Given the description of an element on the screen output the (x, y) to click on. 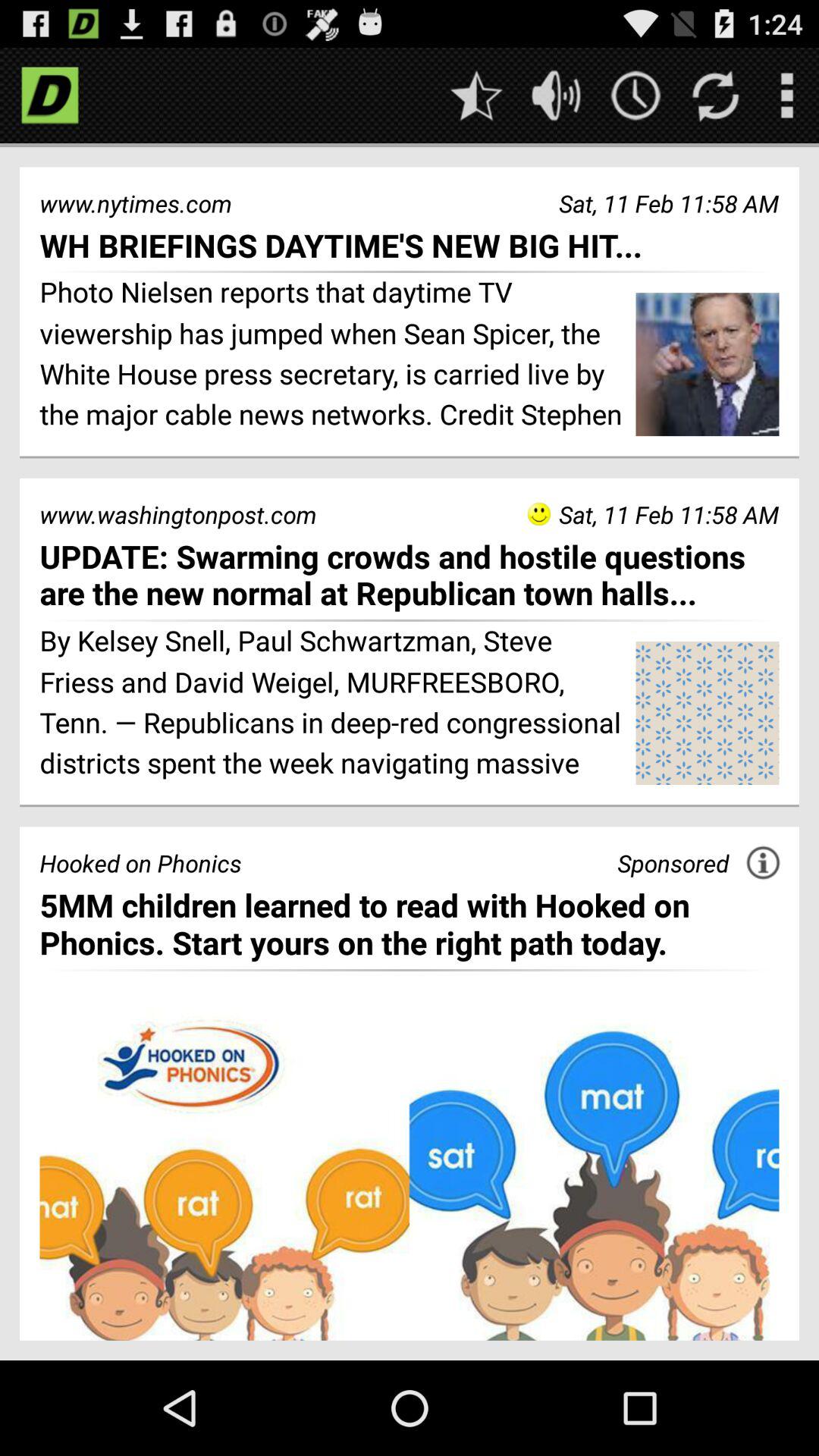
choose item above 5mm children learned icon (763, 862)
